Given the description of an element on the screen output the (x, y) to click on. 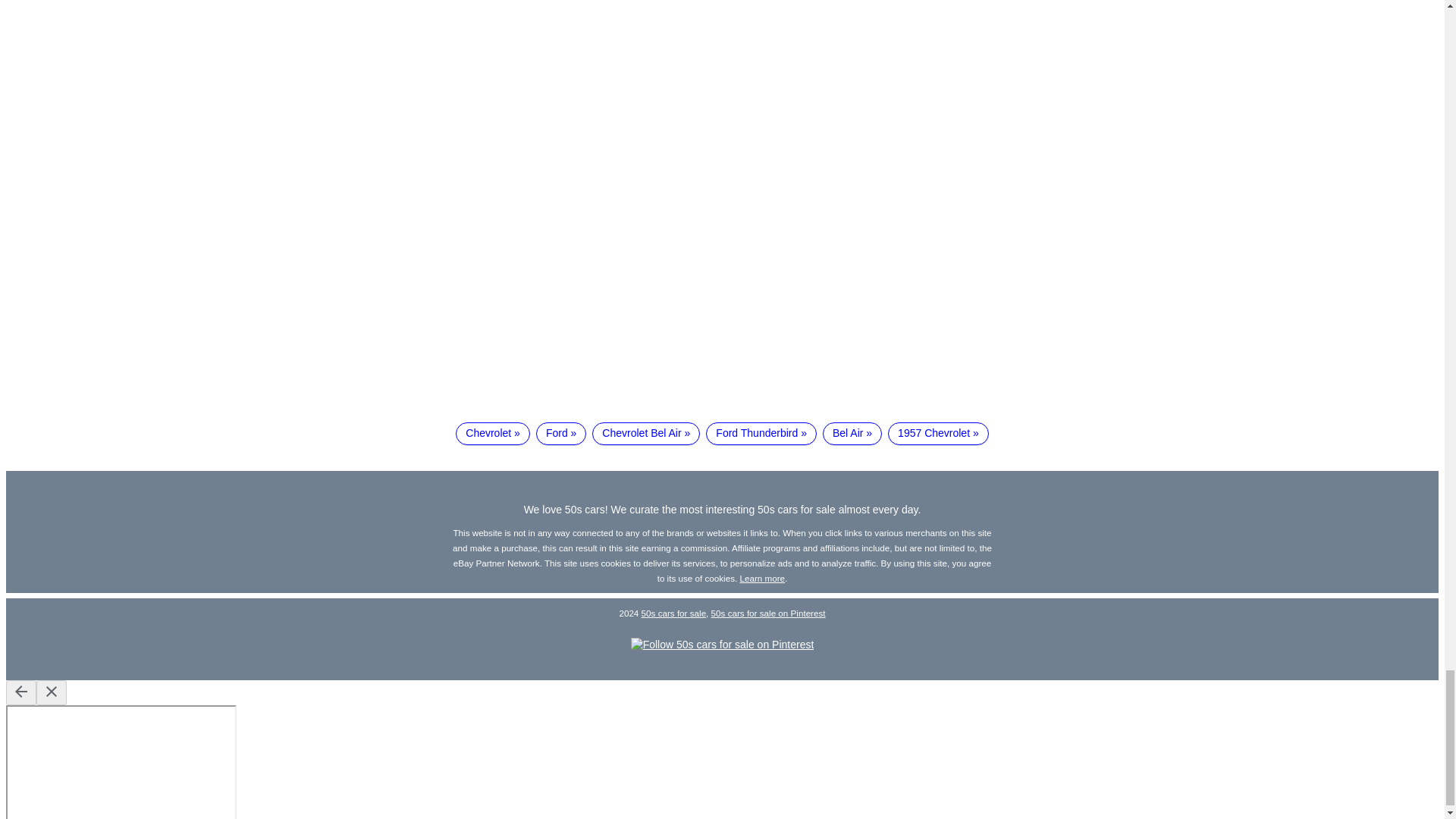
Chevrolet Bel Air (646, 433)
50s cars for sale (674, 613)
Chevrolet (492, 433)
Follow 50s cars for sale on Pinterest (721, 644)
Bel Air (852, 433)
50s cars for sale on Pinterest (768, 613)
1957 Chevrolet (938, 433)
Ford (560, 433)
Learn more (762, 578)
Ford Thunderbird (761, 433)
